Given the description of an element on the screen output the (x, y) to click on. 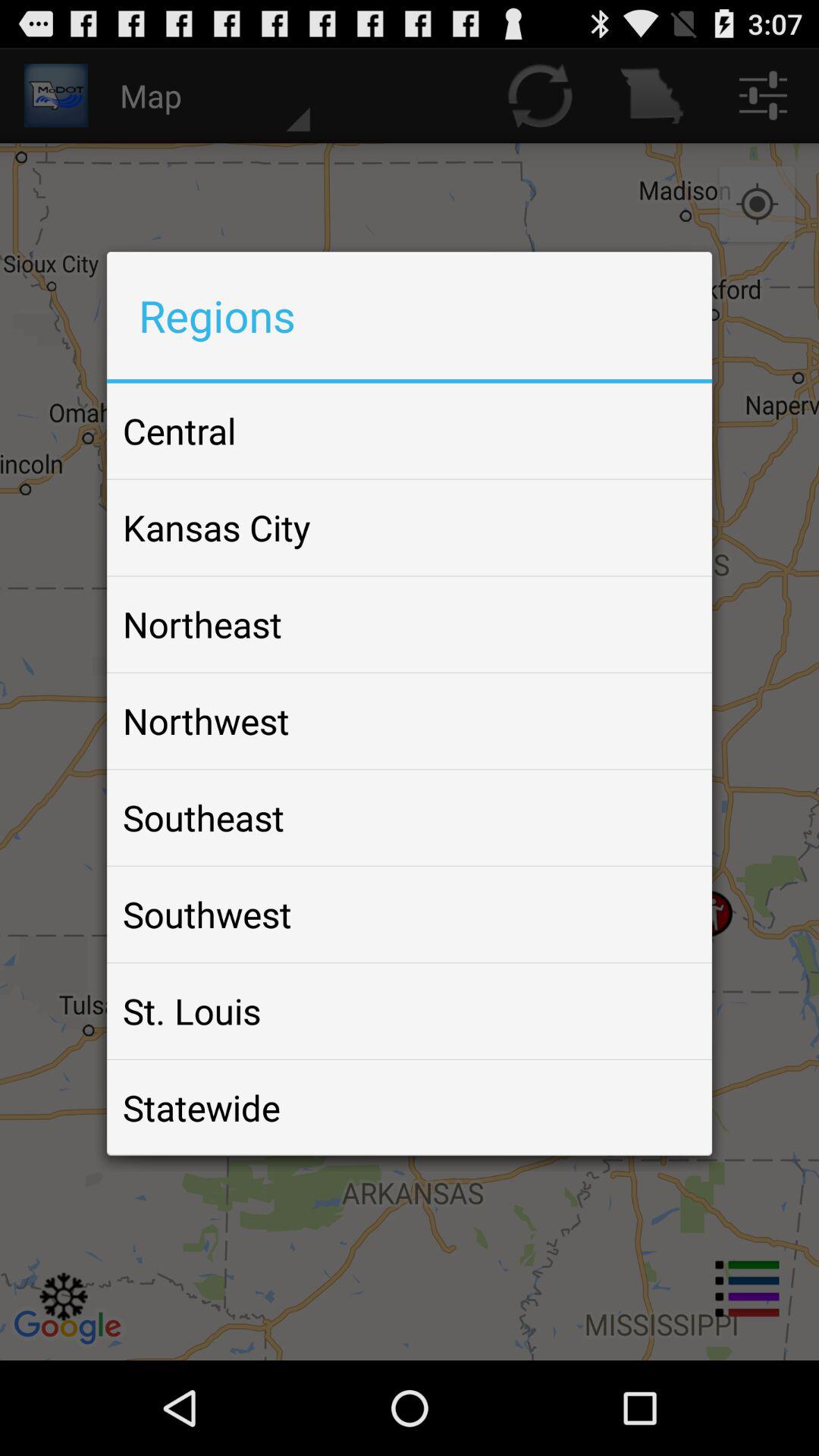
turn off item to the right of the statewide app (664, 1107)
